Given the description of an element on the screen output the (x, y) to click on. 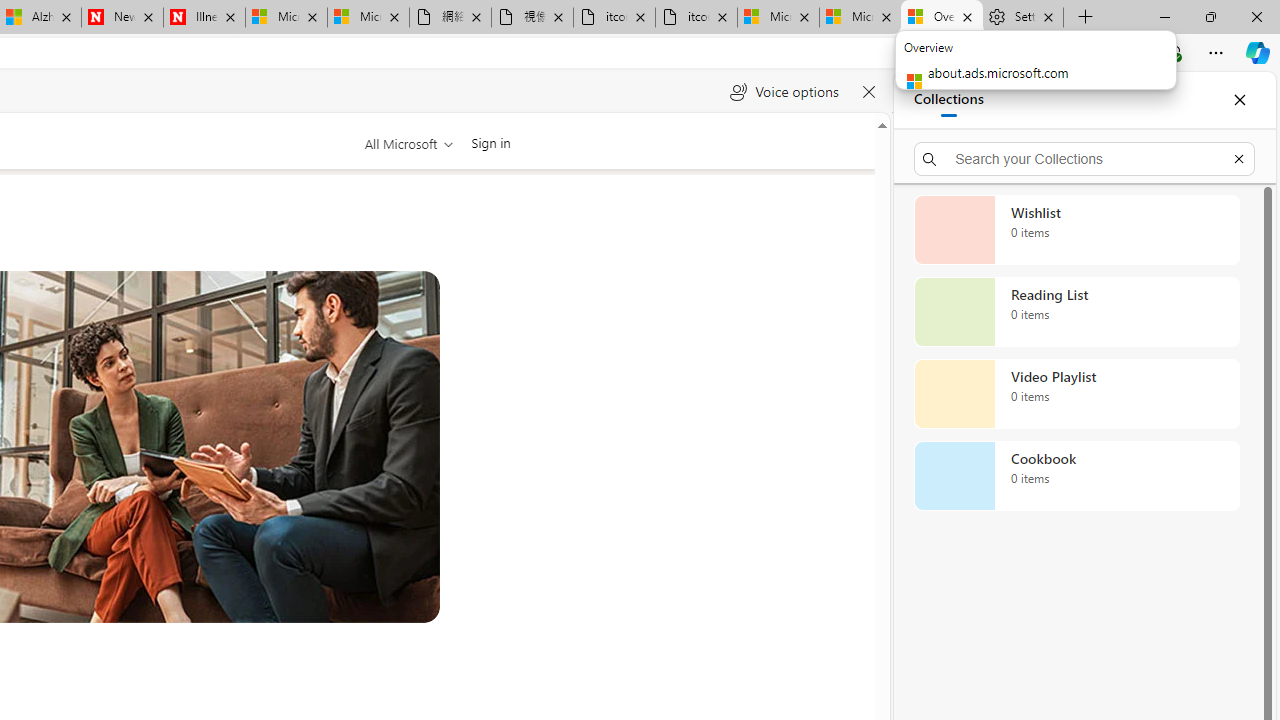
Shopping in Microsoft Edge (950, 53)
Search your Collections (1084, 158)
Video Playlist collection, 0 items (1076, 394)
Reading List collection, 0 items (1076, 312)
Cookbook collection, 0 items (1076, 475)
Overview (941, 17)
Close read aloud (868, 92)
Newsweek - News, Analysis, Politics, Business, Technology (121, 17)
